Given the description of an element on the screen output the (x, y) to click on. 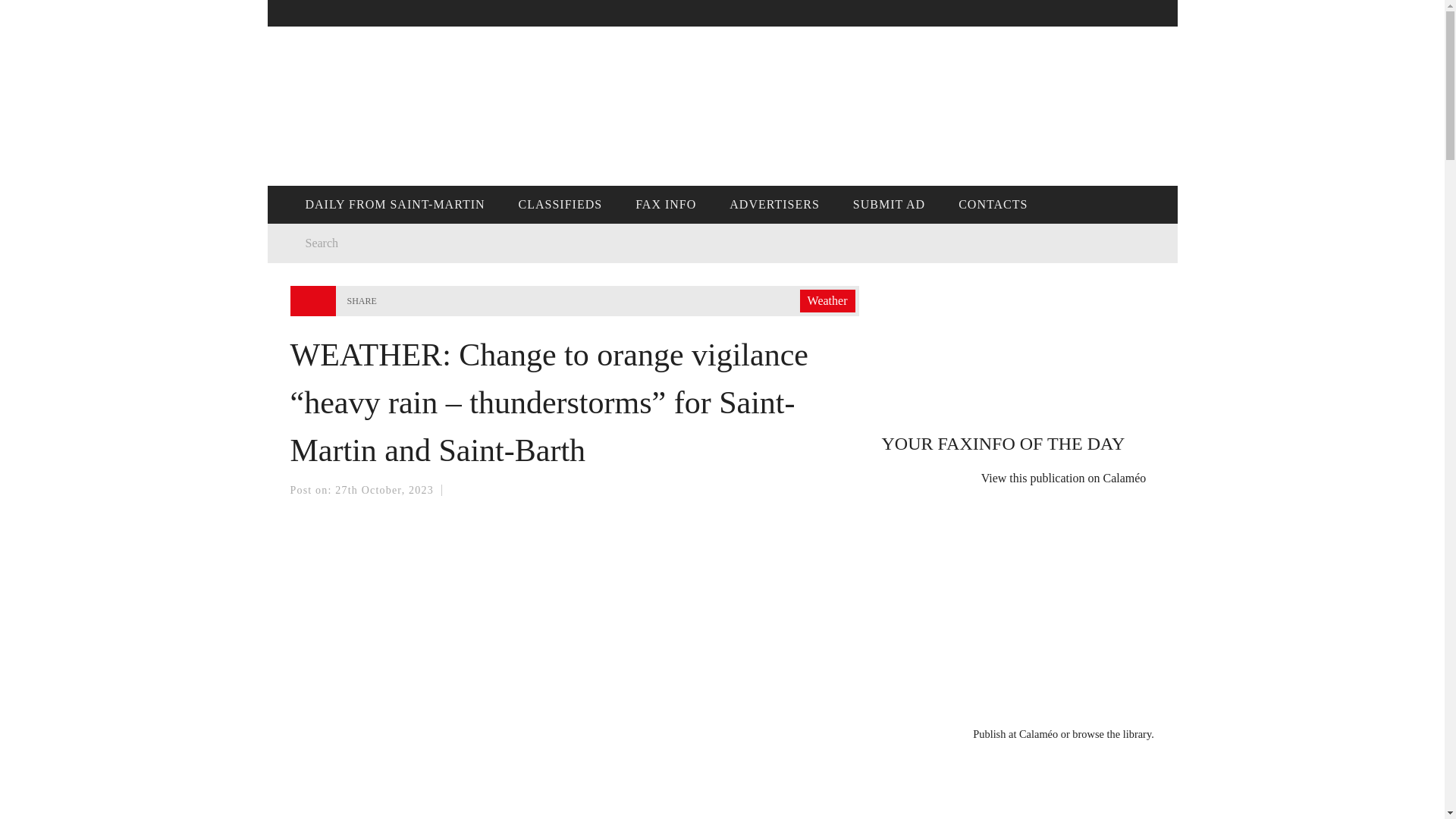
Search (494, 242)
ADVERTISERS (774, 204)
CLASSIFIEDS (560, 204)
DAILY FROM SAINT-MARTIN (394, 204)
FAX INFO (665, 204)
